Given the description of an element on the screen output the (x, y) to click on. 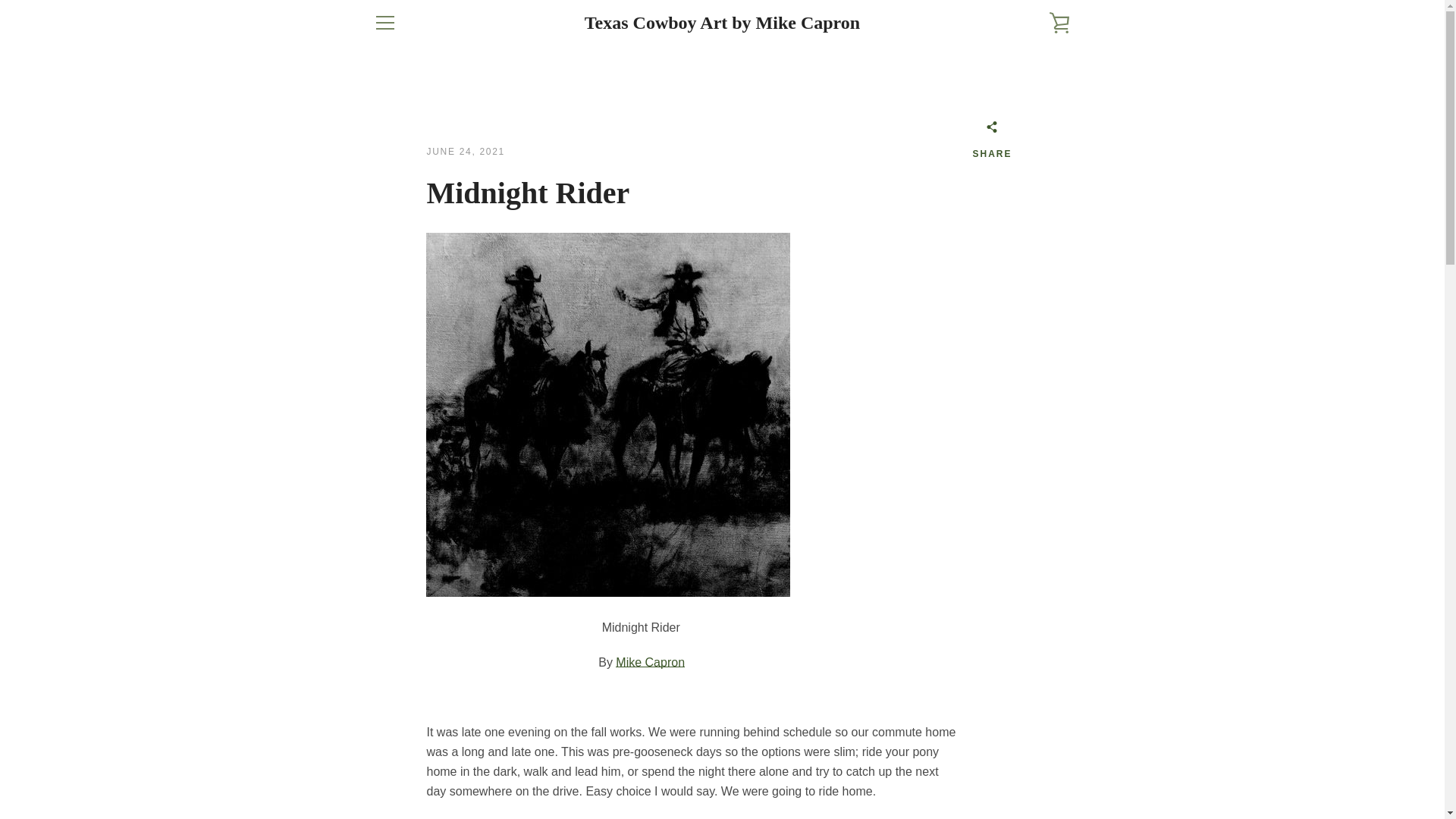
SHARE (991, 142)
Mike Capron (649, 662)
MENU (384, 22)
Texas Cowboy Art by Mike Capron (722, 23)
VIEW CART (1059, 22)
